Given the description of an element on the screen output the (x, y) to click on. 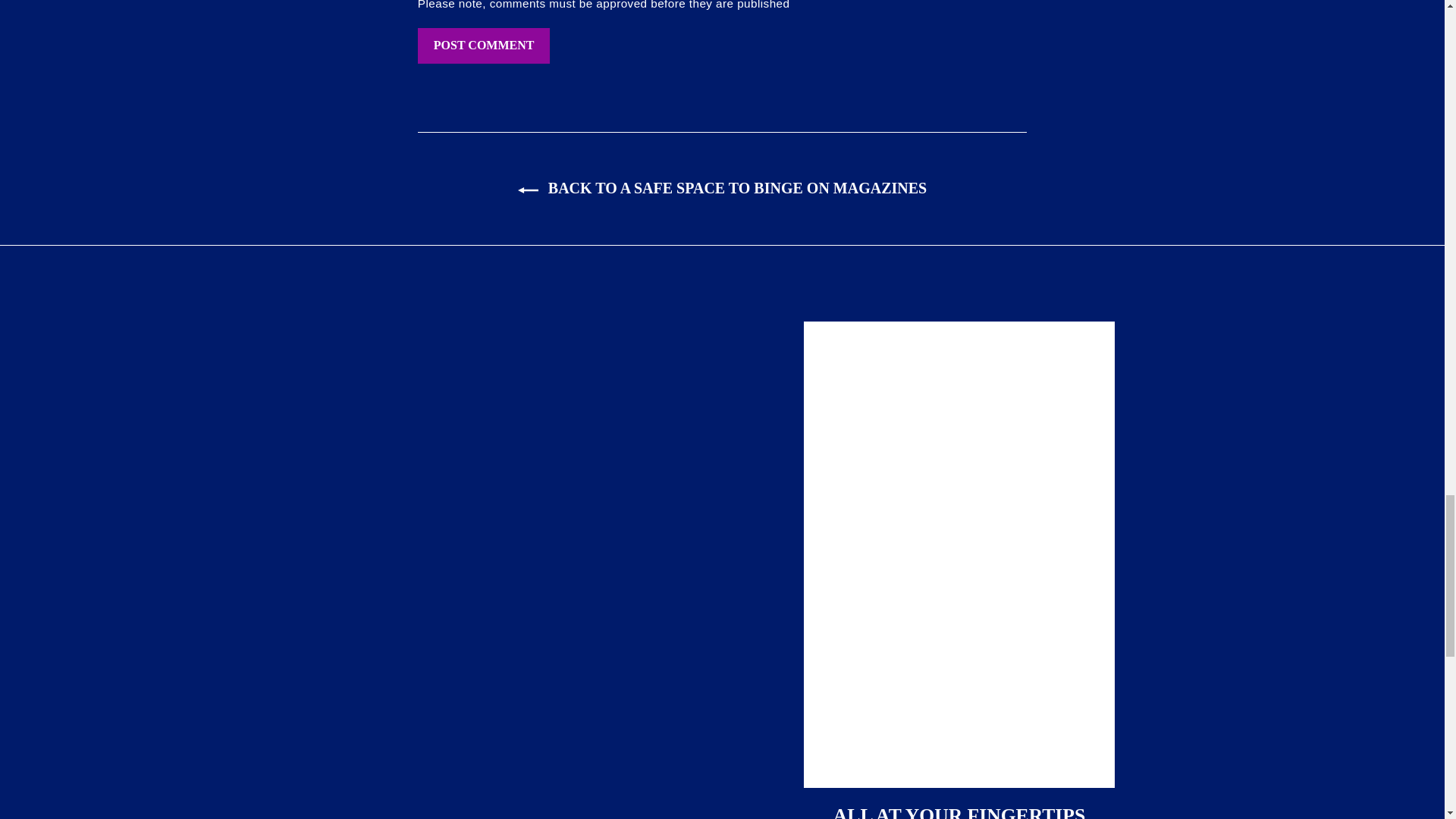
Post comment (483, 45)
Post comment (483, 45)
BACK TO A SAFE SPACE TO BINGE ON MAGAZINES (722, 187)
